Given the description of an element on the screen output the (x, y) to click on. 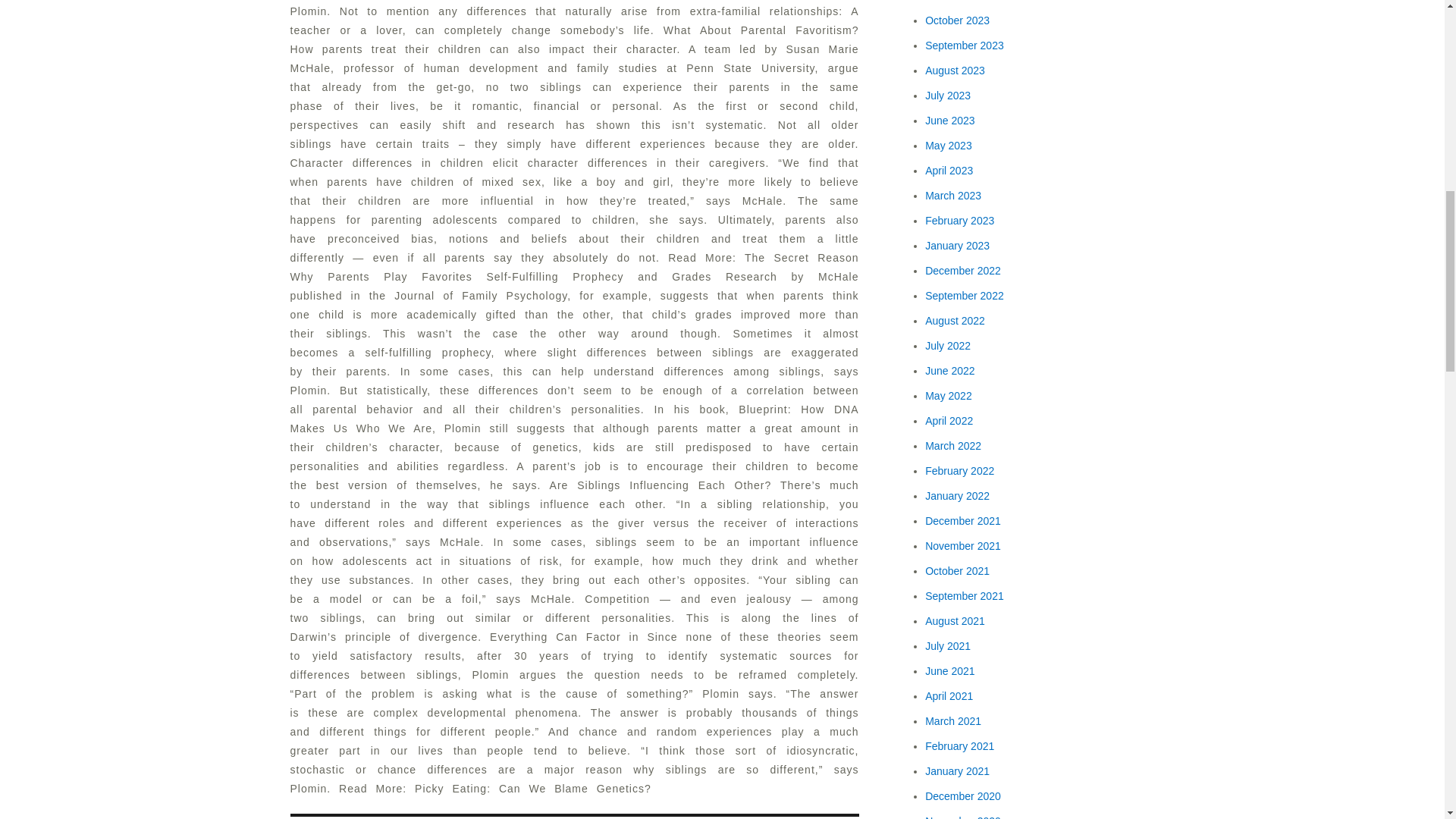
July 2023 (947, 95)
May 2023 (947, 145)
December 2022 (962, 270)
August 2023 (954, 70)
January 2023 (957, 245)
April 2023 (948, 170)
March 2023 (952, 195)
October 2023 (957, 20)
June 2023 (949, 120)
November 2023 (962, 0)
February 2023 (959, 220)
September 2023 (964, 45)
